Given the description of an element on the screen output the (x, y) to click on. 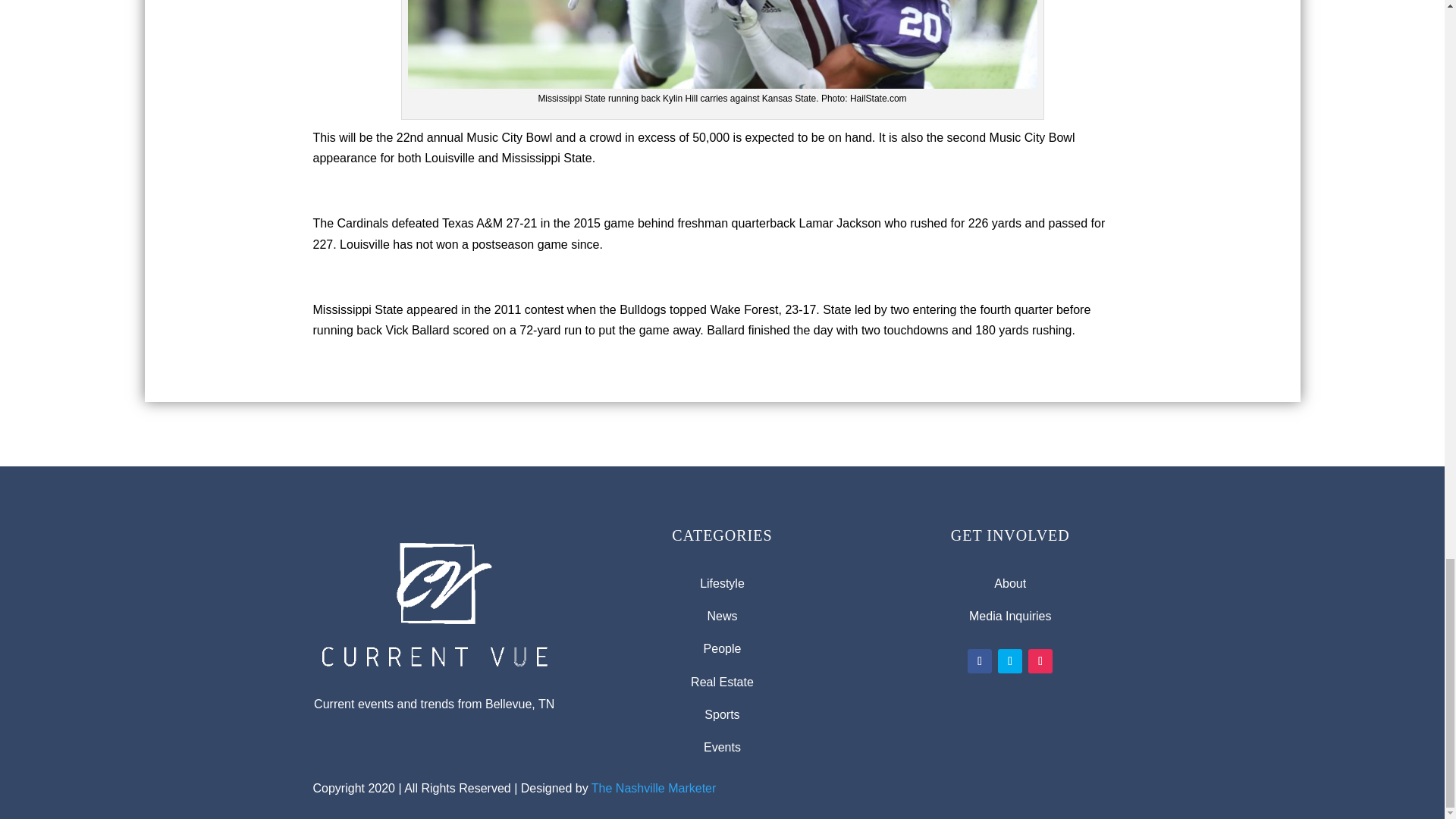
Follow on Facebook (979, 661)
current vue logo white (433, 598)
About (1010, 583)
Media Inquiries (1010, 615)
The Nashville Marketer (653, 788)
Follow on Instagram (1039, 661)
Follow on Twitter (1009, 661)
